Given the description of an element on the screen output the (x, y) to click on. 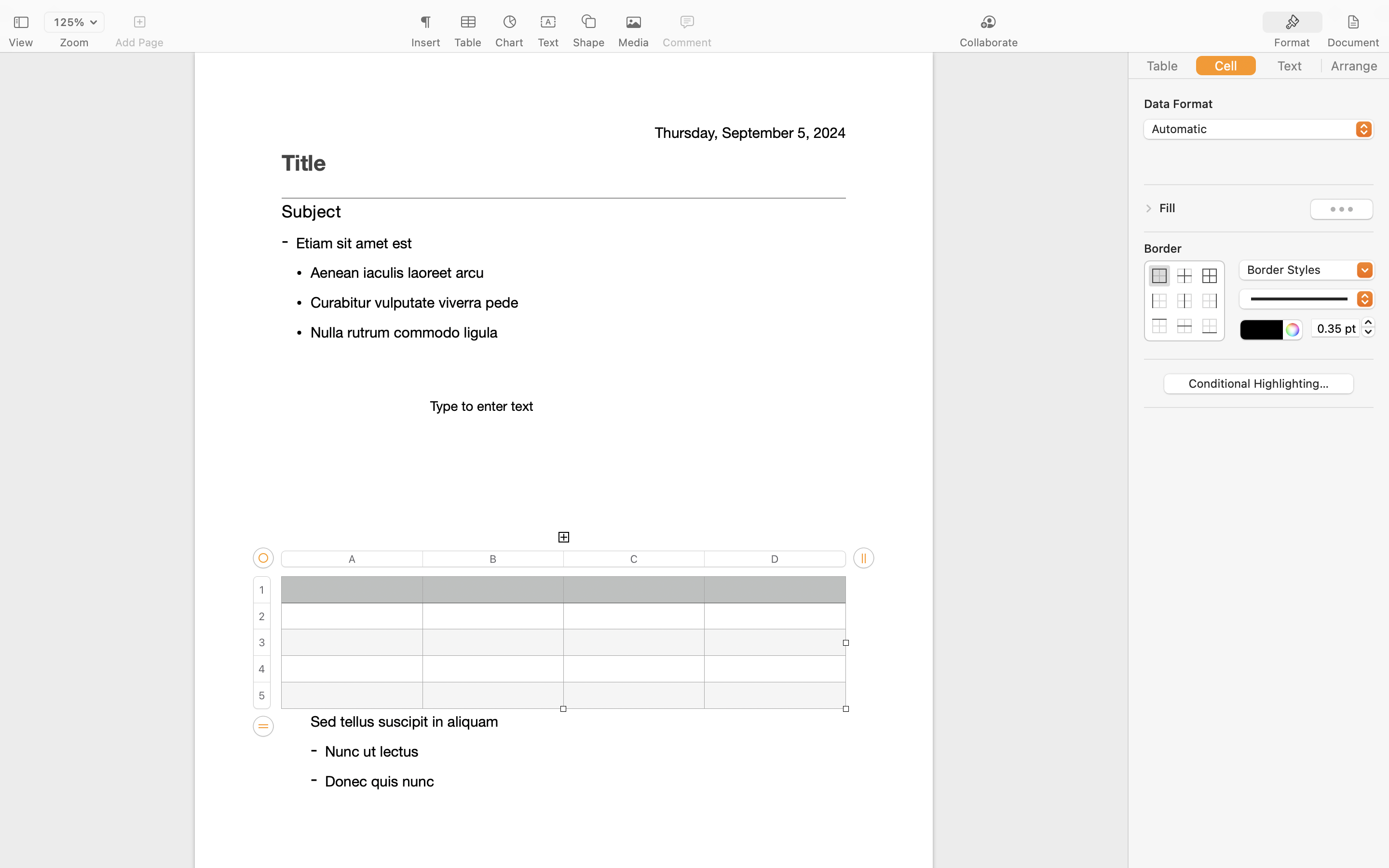
0.3499999940395355 Element type: AXIncrementor (1368, 326)
